Given the description of an element on the screen output the (x, y) to click on. 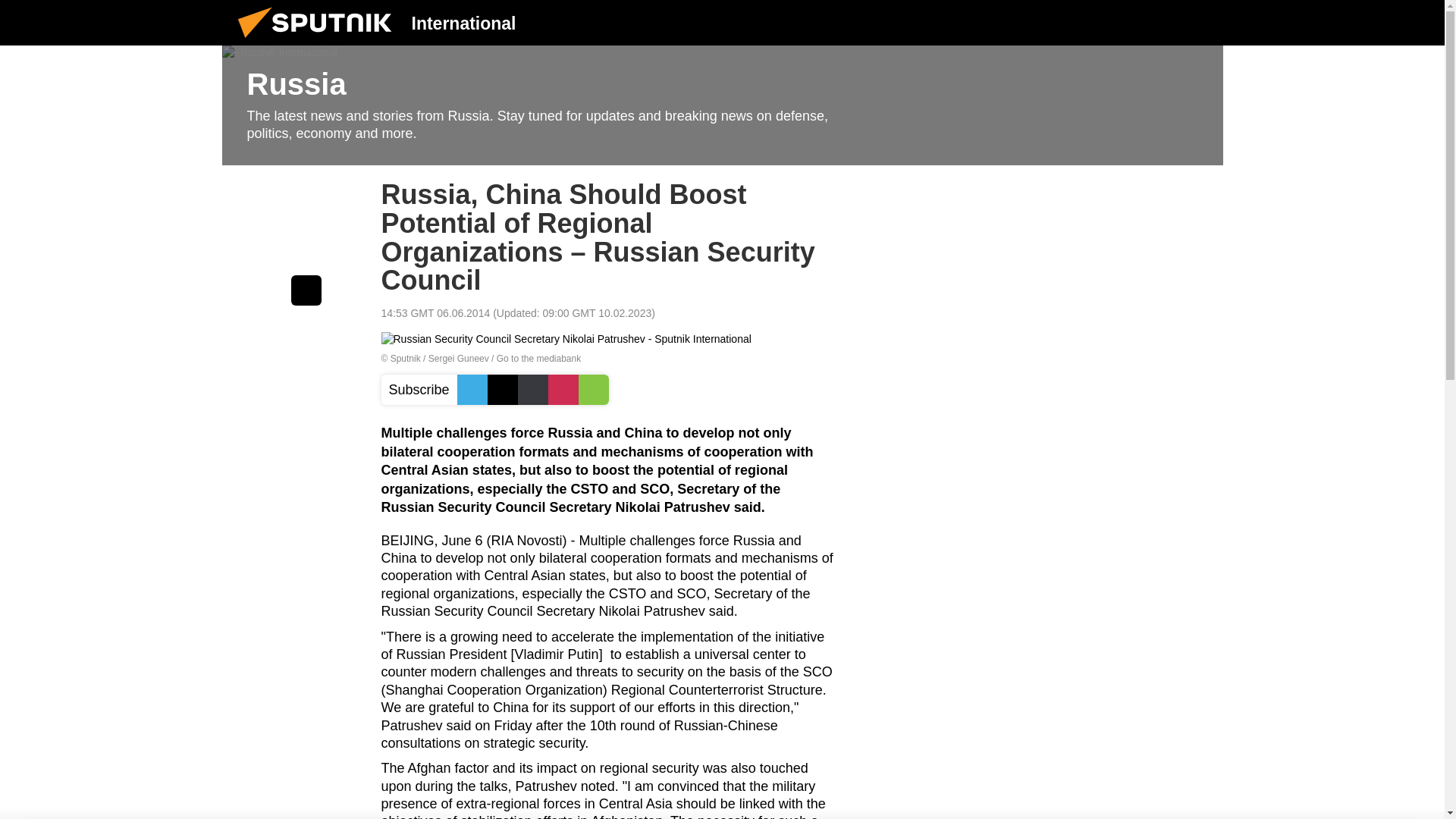
Chats (1199, 22)
Authorization (1123, 22)
Sputnik International (319, 41)
Russia (722, 105)
